Given the description of an element on the screen output the (x, y) to click on. 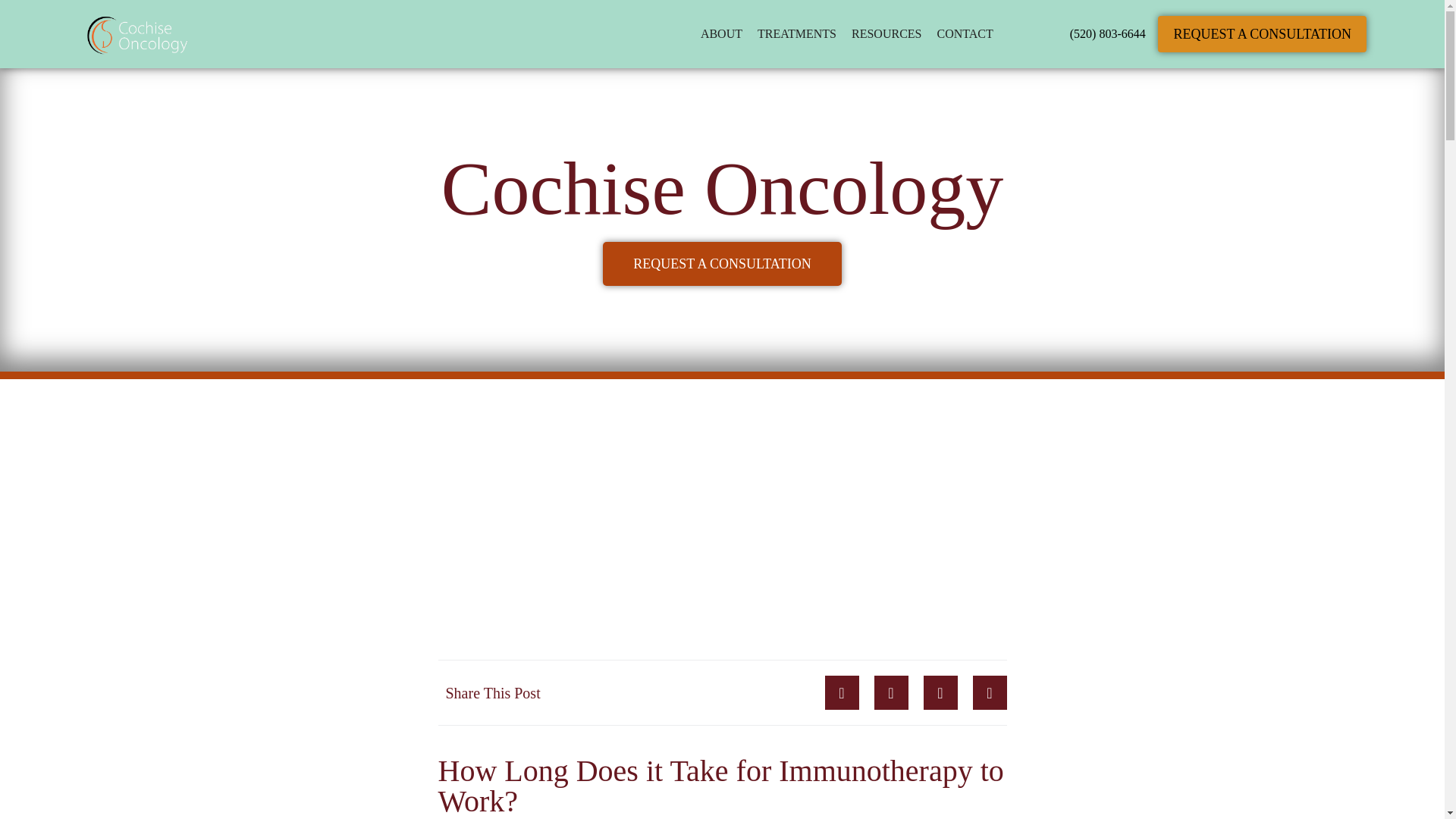
RESOURCES (886, 33)
REQUEST A CONSULTATION (1262, 33)
TREATMENTS (796, 33)
